Given the description of an element on the screen output the (x, y) to click on. 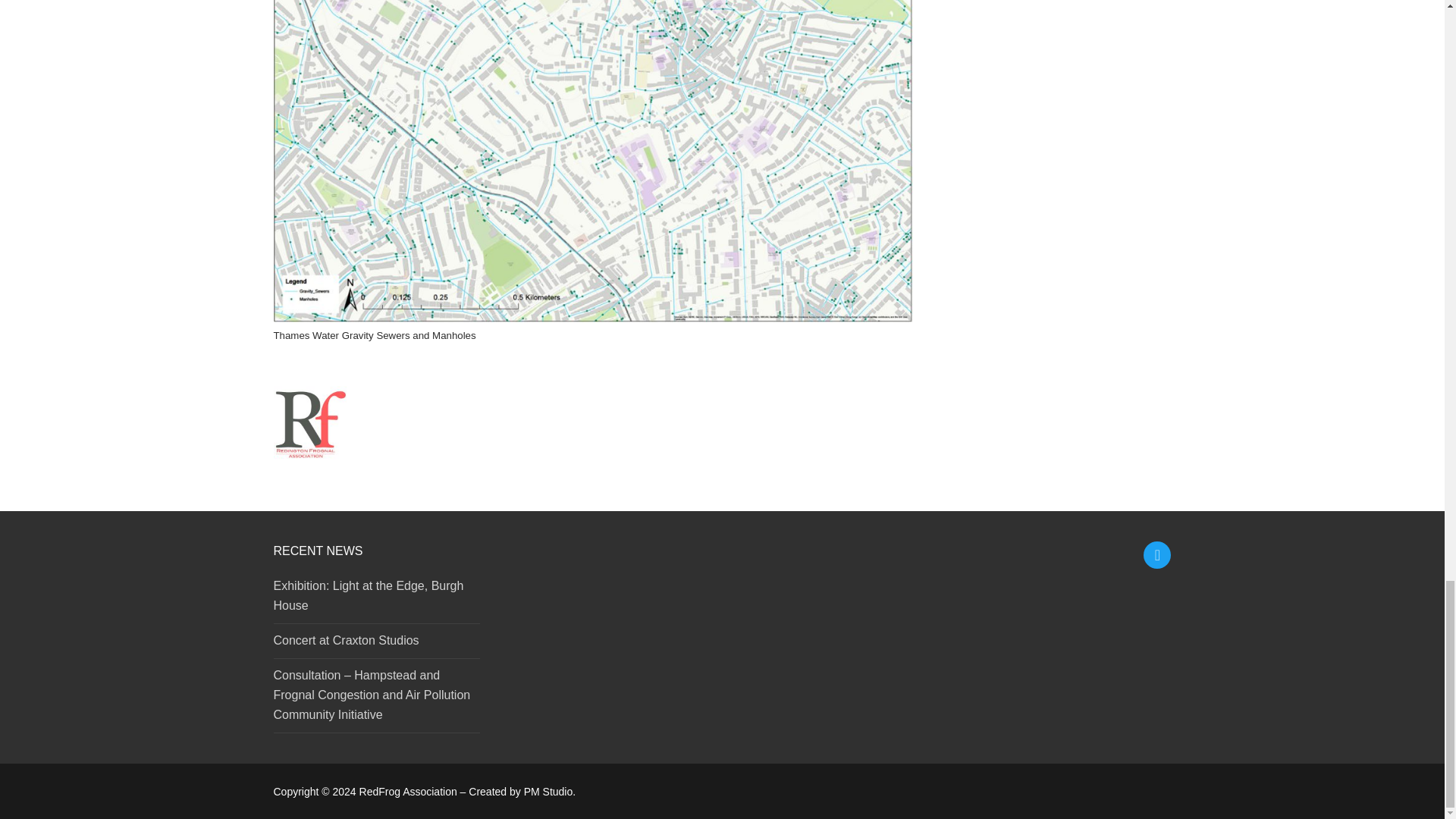
Twitter (1157, 554)
